Given the description of an element on the screen output the (x, y) to click on. 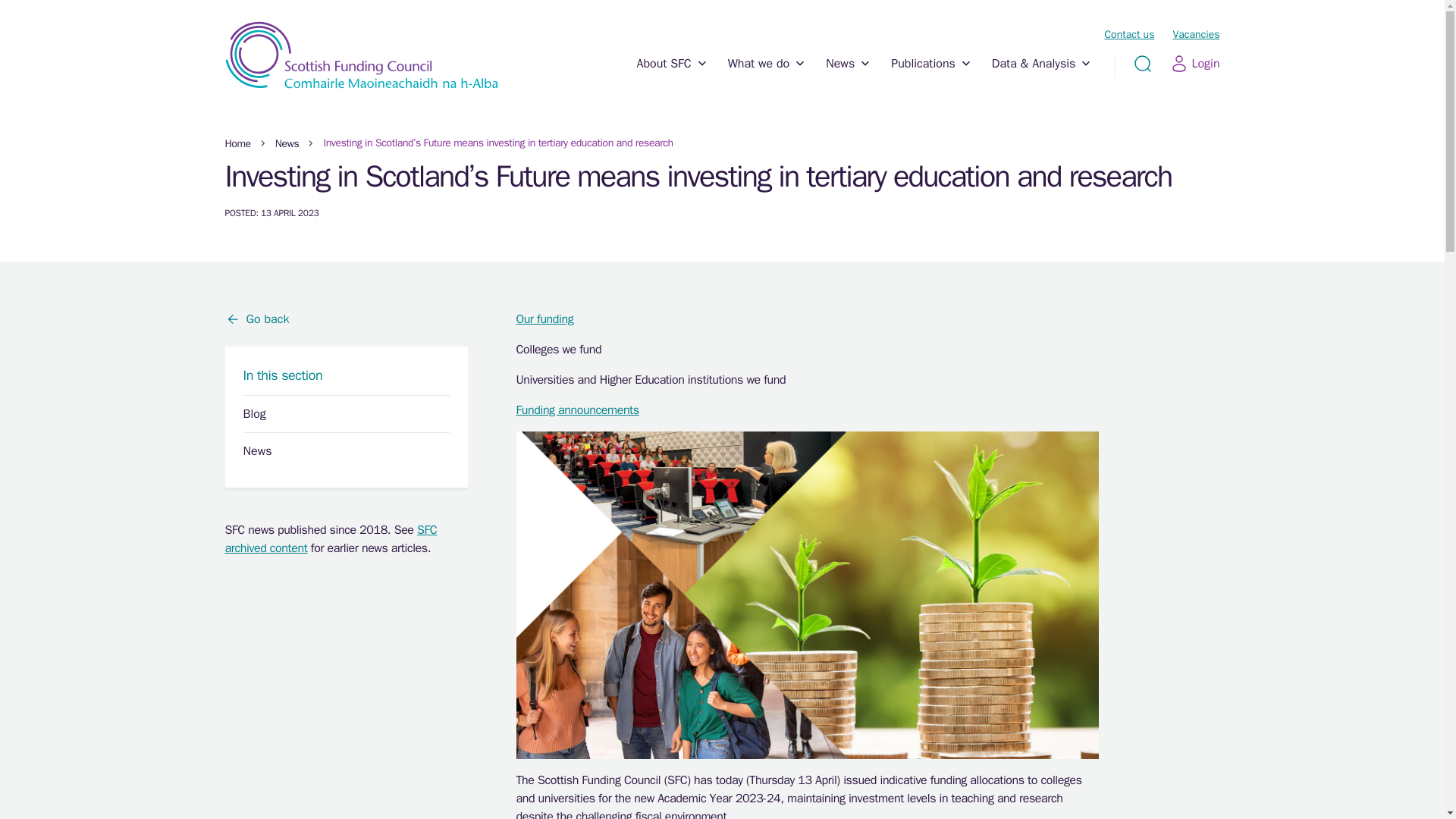
Go to the homepage (360, 55)
Login to account (1195, 63)
Contact us (1128, 33)
Vacancies (1196, 33)
Click button to search site (1142, 63)
What we do (767, 75)
Click to see SFC archived content (330, 539)
About SFC (672, 75)
